Given the description of an element on the screen output the (x, y) to click on. 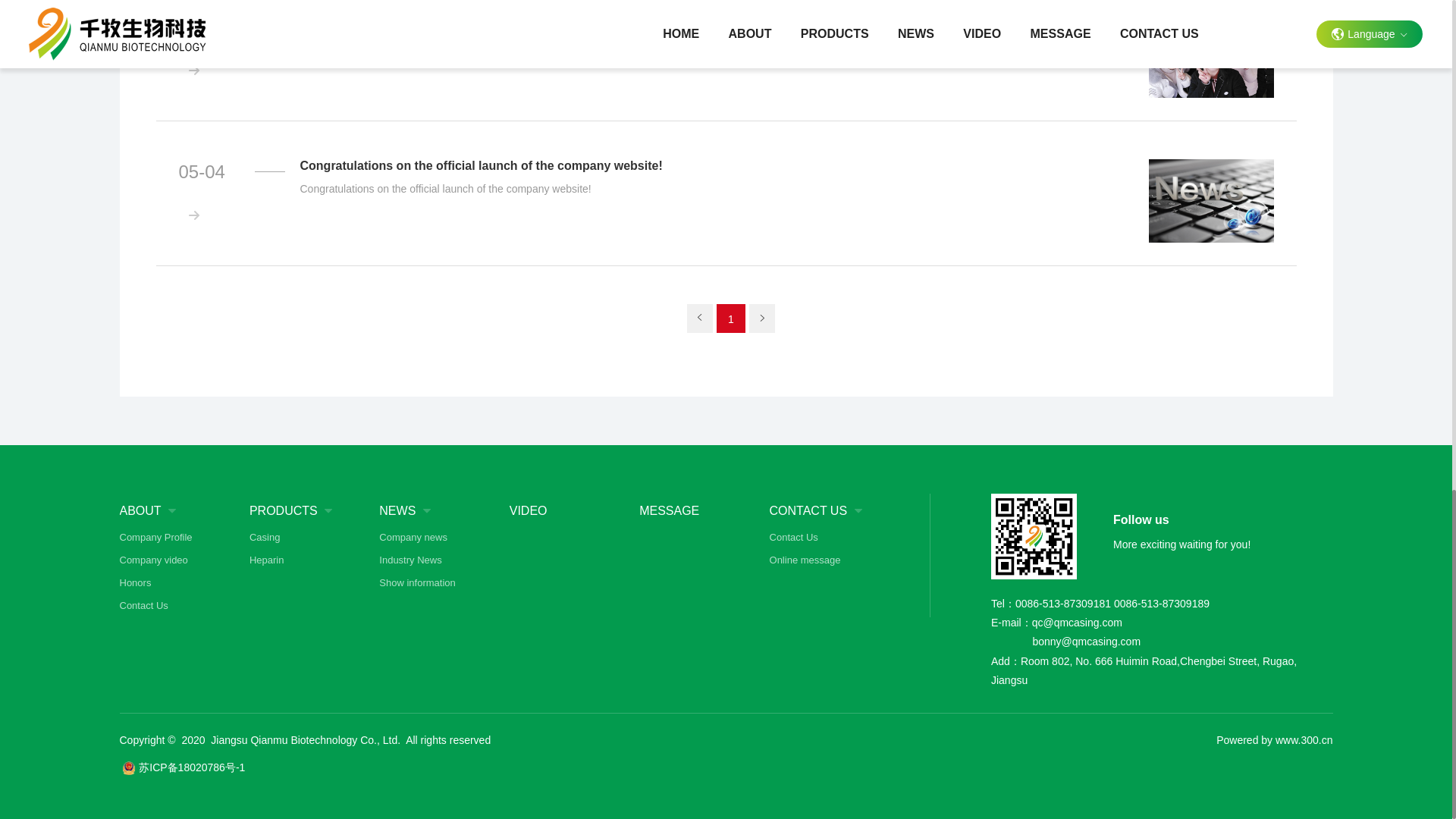
qianmu (1034, 536)
Warmly congratulate the company website officially launched! (712, 20)
